Given the description of an element on the screen output the (x, y) to click on. 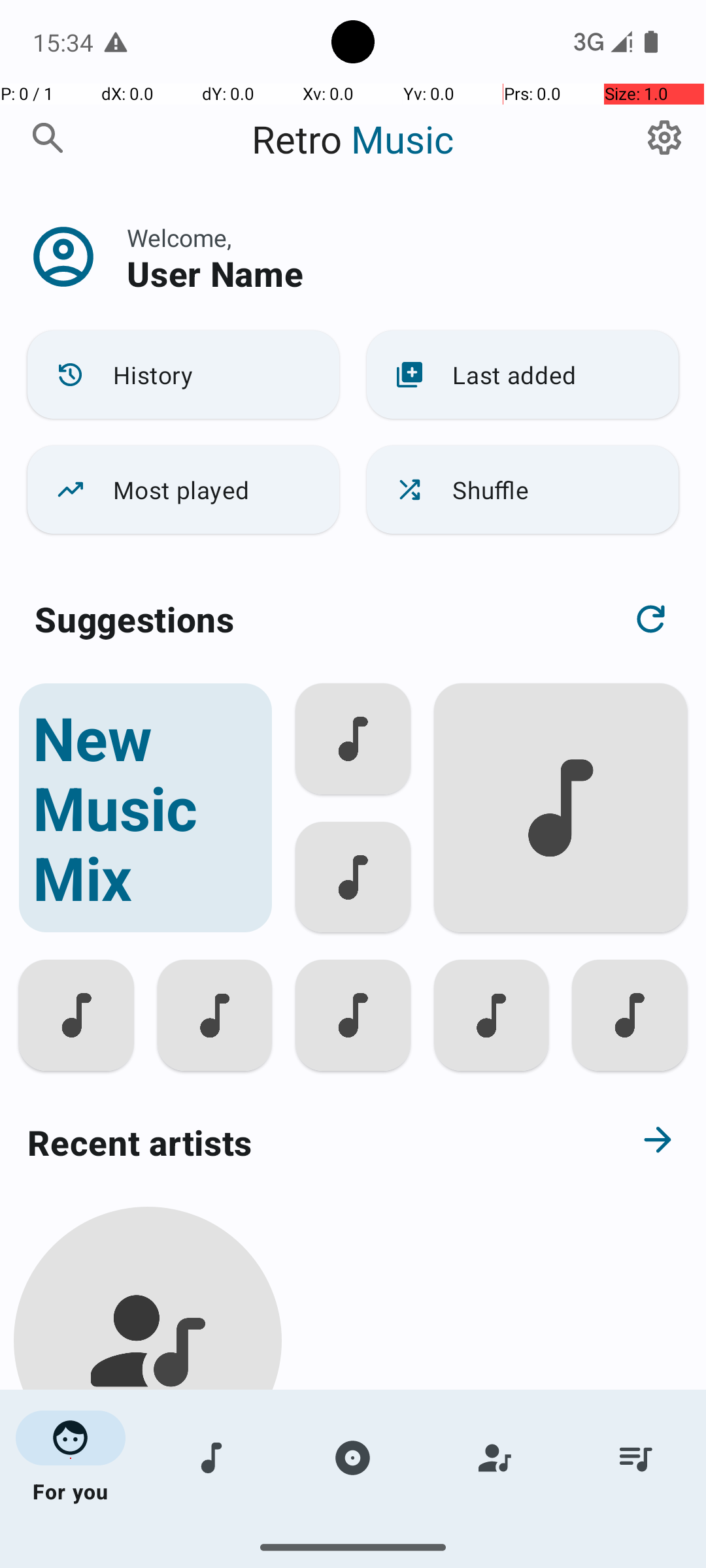
Gabriel Element type: android.widget.TextView (147, 1503)
